Given the description of an element on the screen output the (x, y) to click on. 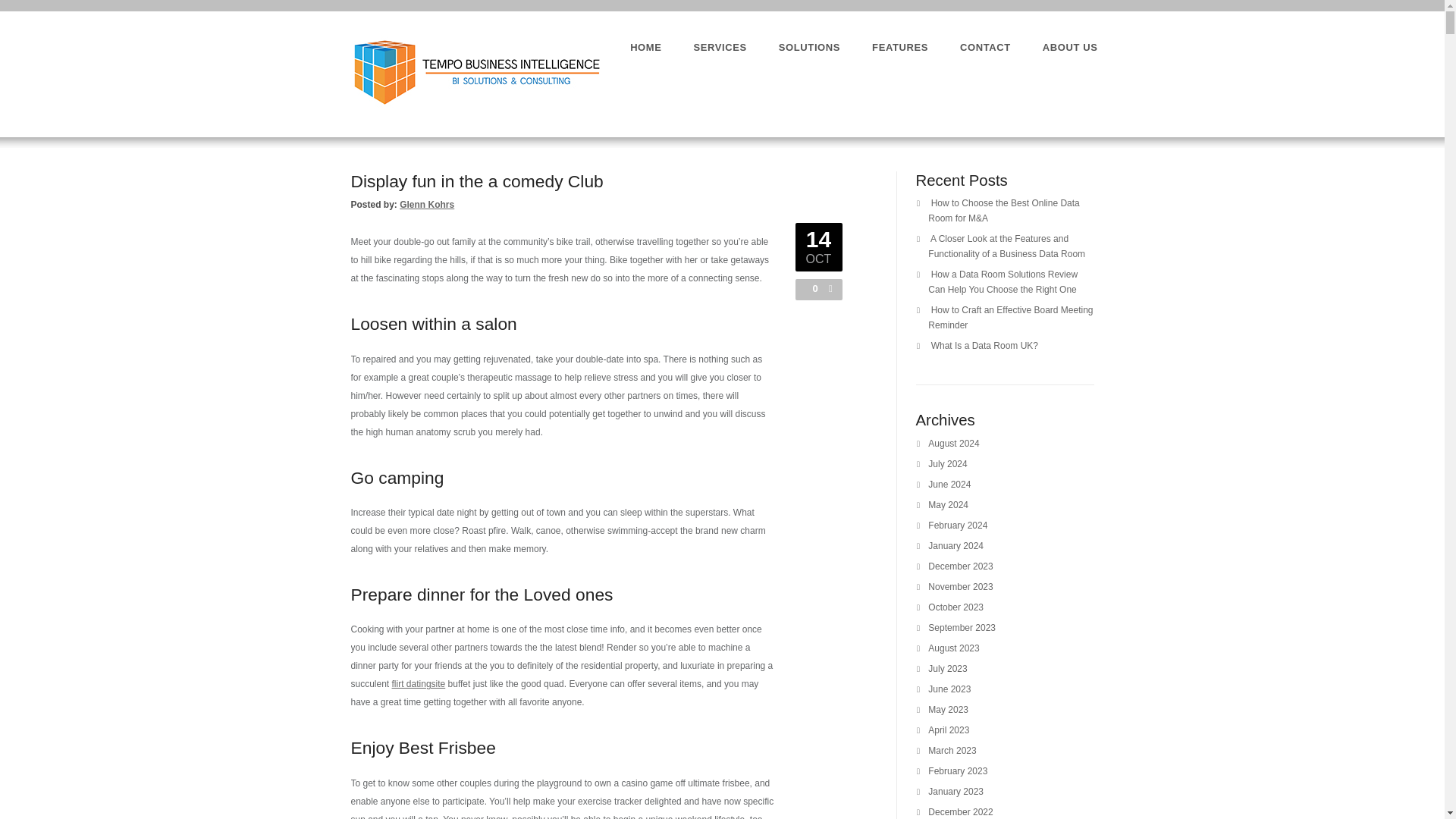
SOLUTIONS (809, 47)
FEATURES (900, 47)
flirt datingsite (418, 683)
Glenn Kohrs (426, 204)
How to Craft an Effective Board Meeting Reminder (1010, 317)
SERVICES (720, 47)
0 (811, 288)
Posts by Glenn Kohrs (426, 204)
